Given the description of an element on the screen output the (x, y) to click on. 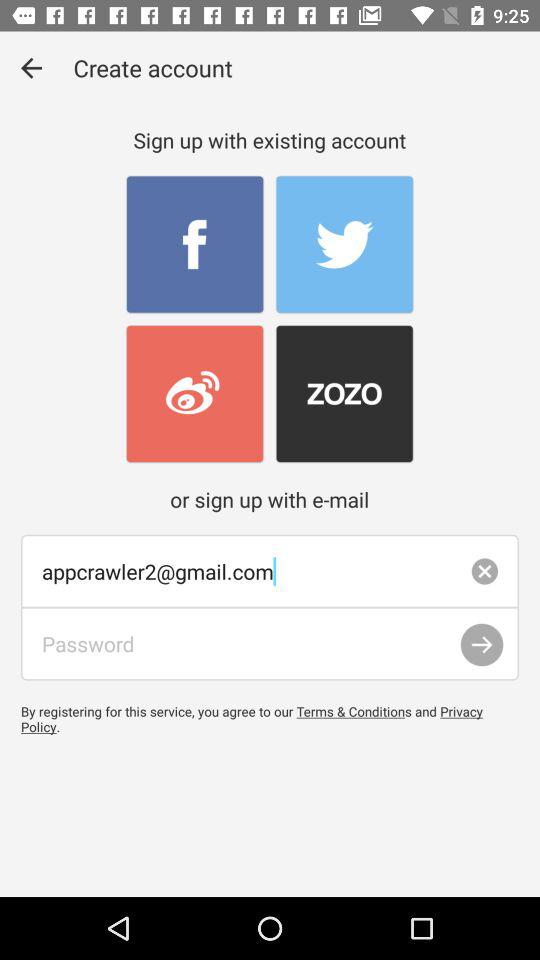
open the item to the left of the create account item (31, 68)
